Given the description of an element on the screen output the (x, y) to click on. 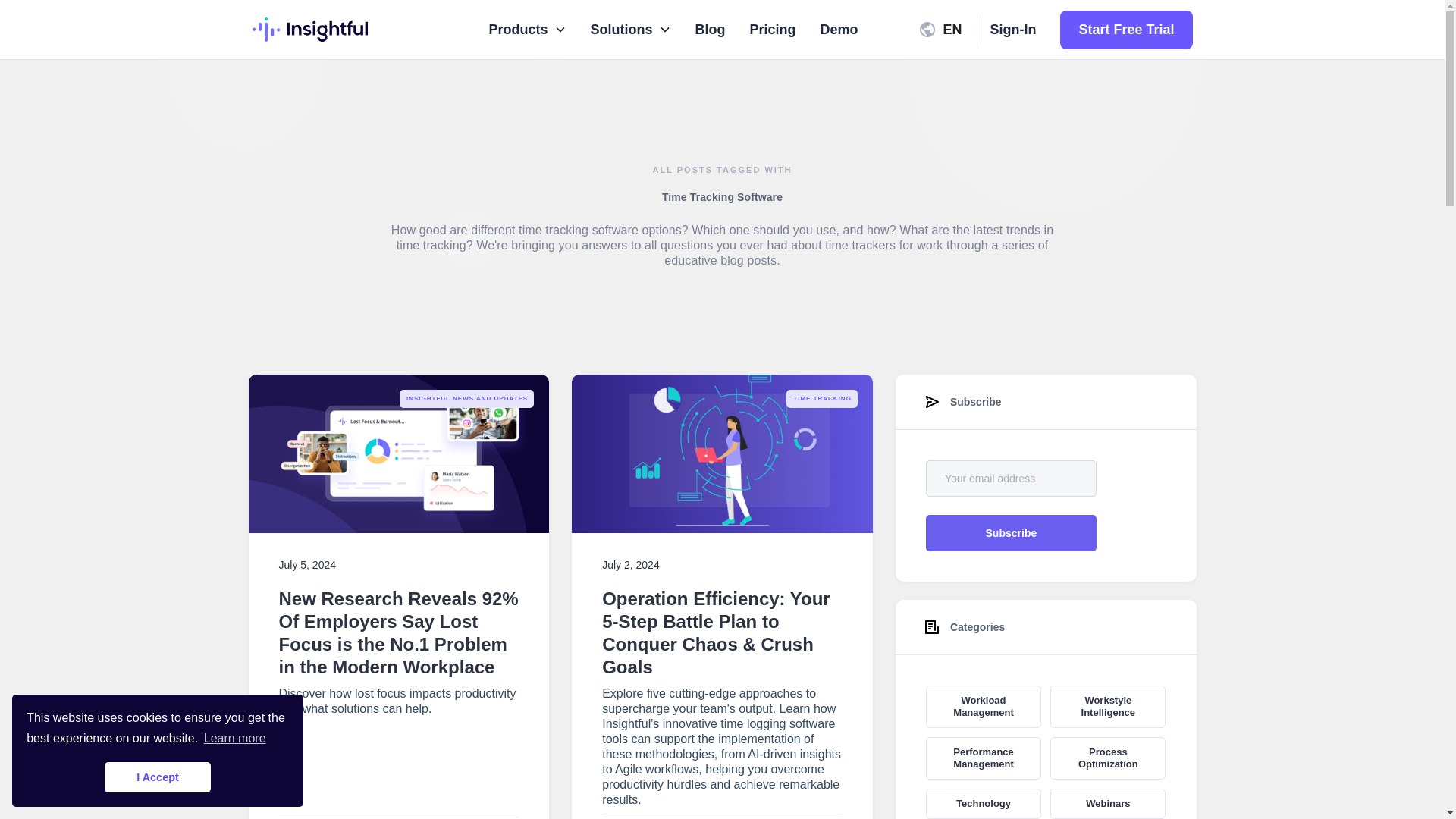
Learn more (234, 738)
Subscribe (1011, 533)
I Accept (157, 777)
